Given the description of an element on the screen output the (x, y) to click on. 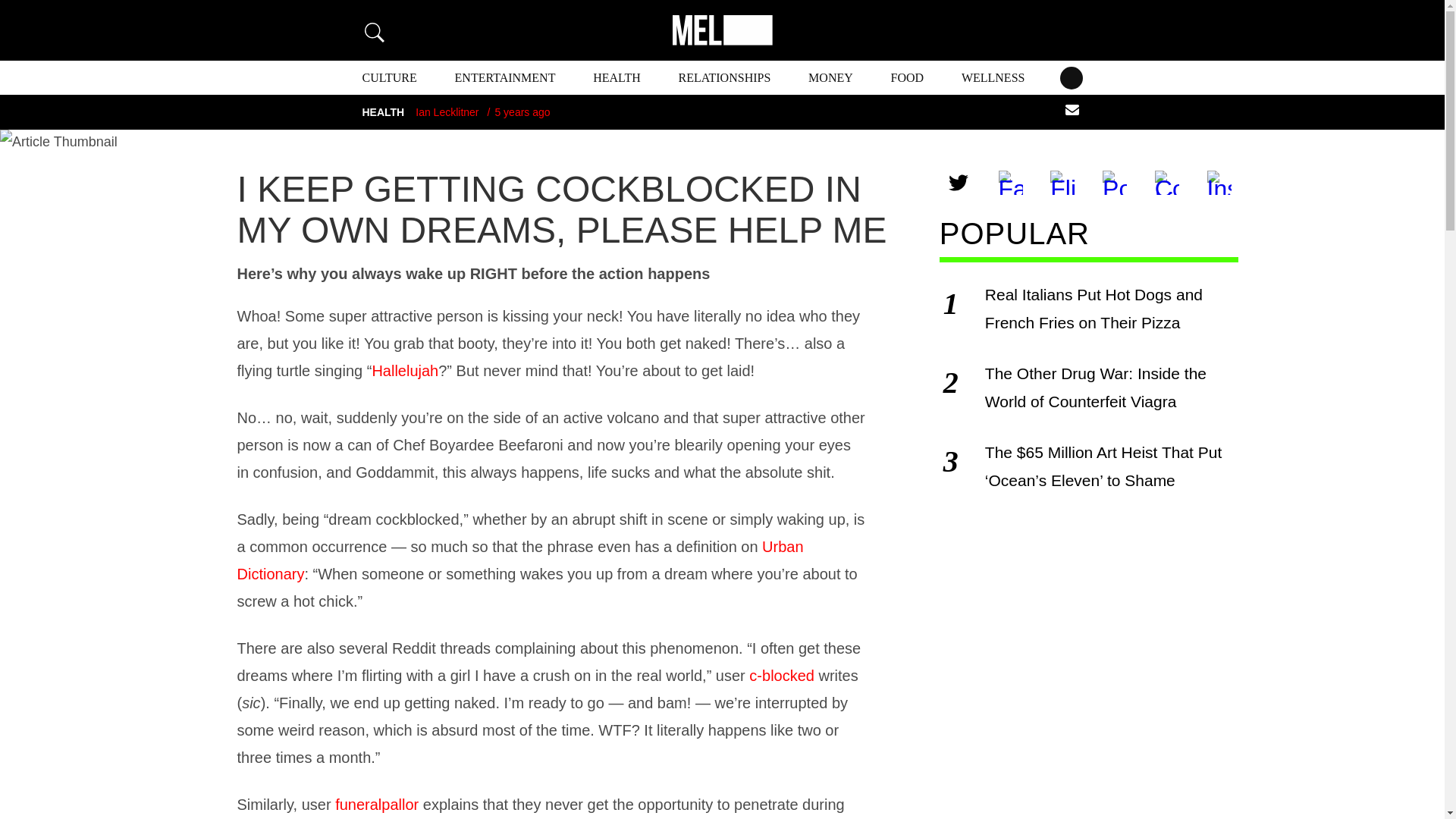
HEALTH (616, 77)
MONEY (830, 77)
FOOD (907, 77)
Posts by Ian Lecklitner (446, 111)
RELATIONSHIPS (724, 77)
Pocket (1114, 182)
CULTURE (389, 77)
Twitter (958, 182)
Facebook (1010, 182)
Instagram (1219, 182)
WELLNESS (992, 77)
Copy Link (1166, 182)
MEL Magazine (721, 30)
Flipboard (1061, 182)
ENTERTAINMENT (505, 77)
